Given the description of an element on the screen output the (x, y) to click on. 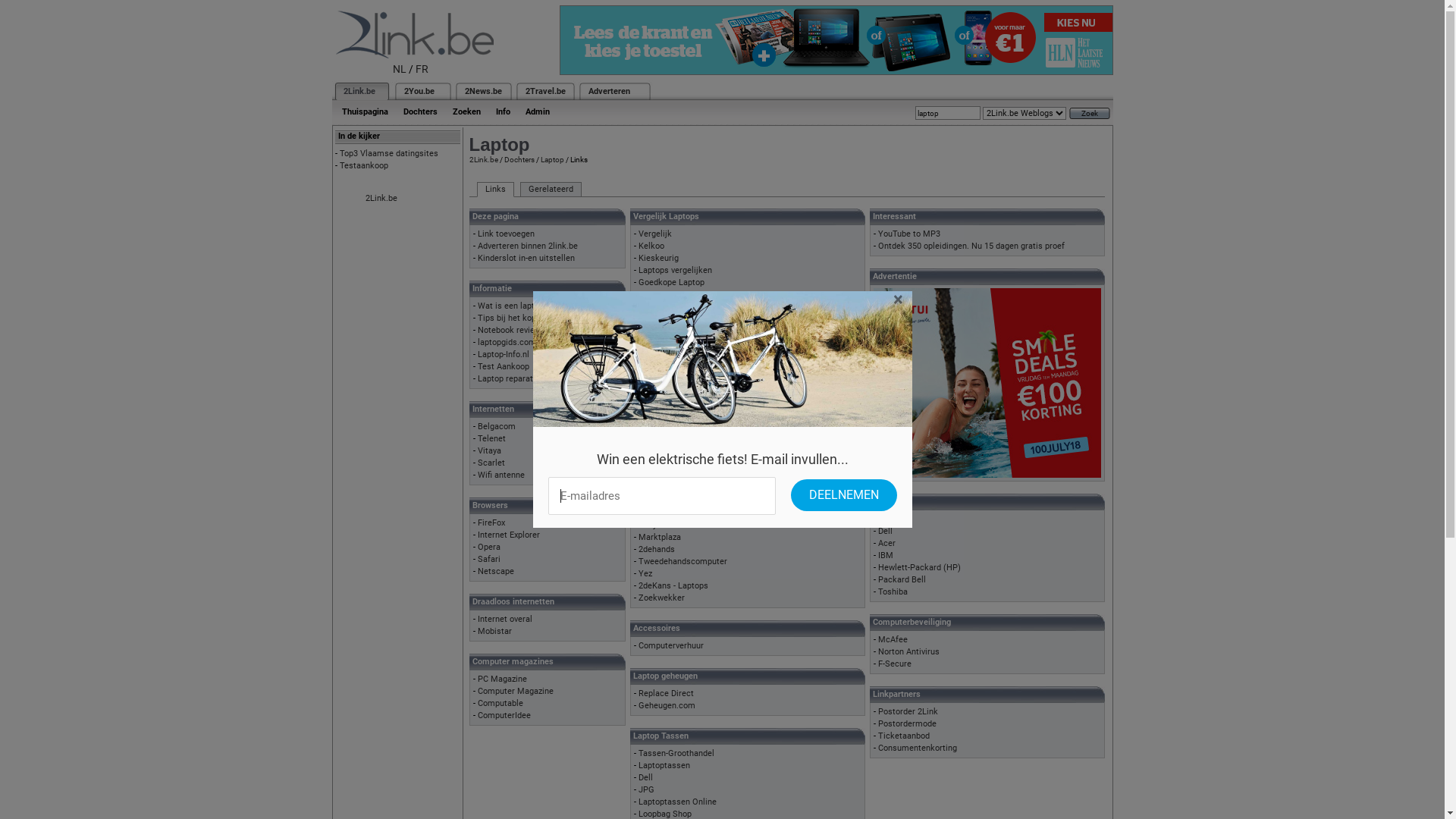
Tweedehands laptops Element type: text (679, 511)
Consumentenkorting Element type: text (917, 748)
Mobistar Element type: text (494, 631)
Belgacom Element type: text (496, 426)
Hewlett-Packard (HP) Element type: text (919, 567)
Links Element type: text (494, 189)
2You.be Element type: text (418, 91)
Testaankoop Element type: text (363, 165)
McAfee Element type: text (892, 639)
Kieskeurig Element type: text (658, 258)
Alternate Element type: text (655, 330)
Thuispagina Element type: text (364, 111)
Zoeken Element type: text (465, 111)
Laptoptassen Element type: text (664, 765)
Vergelijk Element type: text (654, 233)
Postordermode Element type: text (907, 723)
Marktplaza Element type: text (659, 537)
FireFox Element type: text (491, 522)
laptopgids.com Element type: text (506, 342)
Laptop Plus Hoogeveen Element type: text (682, 463)
Dochters Element type: text (518, 159)
Dell Laptops Element type: text (661, 354)
Toshiba Element type: text (892, 591)
2Link.be Element type: text (381, 198)
Apple Element type: text (888, 519)
Laptop Element type: text (551, 159)
Tips bij het kopen van een laptop Element type: text (539, 318)
Zoekwekker Element type: text (661, 597)
2Link.be Element type: text (358, 91)
Dell Element type: text (645, 777)
laptopverhuur Element type: text (664, 402)
Internet overal Element type: text (504, 619)
Link toevoegen Element type: text (505, 233)
Telenet Element type: text (491, 438)
Laptop-Info.nl Element type: text (503, 354)
Scarlet Element type: text (491, 462)
2Travel.be Element type: text (544, 91)
Skala laptop huur Element type: text (671, 451)
Goedkope Laptop Element type: text (671, 282)
ComputerIdee Element type: text (503, 715)
Notebook reviews Element type: text (511, 330)
Ticketaanbod Element type: text (903, 735)
Geheugen.com Element type: text (666, 705)
Norton Antivirus Element type: text (908, 651)
Vitaya Element type: text (489, 450)
Kelkoo Element type: text (651, 246)
Adverteren Element type: text (609, 91)
2News.be Element type: text (482, 91)
Kinderslot in-en uitstellen Element type: text (525, 258)
Tassen-Groothandel Element type: text (676, 753)
2dehands Element type: text (656, 549)
Computerverhuur Element type: text (670, 645)
Internet Explorer Element type: text (508, 534)
YouTube to MP3 Element type: text (909, 233)
Acer Element type: text (886, 543)
Netscape Element type: text (495, 571)
IBM Element type: text (885, 555)
Computer Magazine Element type: text (515, 691)
Postorder 2Link Element type: text (908, 711)
PC Magazine Element type: text (502, 679)
Dochters Element type: text (420, 111)
Wat is een laptop? Element type: text (512, 305)
2deKans - Laptops Element type: text (673, 585)
Apple Store Element type: text (660, 342)
Info Element type: text (502, 111)
Vanden borre Element type: text (663, 390)
Pixmania Element type: text (655, 378)
Laptops vergelijken Element type: text (675, 270)
Neck Laptops Element type: text (664, 366)
2Link.be Element type: text (482, 159)
Wifi antenne Element type: text (500, 475)
Adverteren binnen 2link.be Element type: text (527, 246)
Replace Direct Element type: text (665, 693)
AnotherKindOfShop Element type: text (675, 427)
Test Aankoop Element type: text (503, 366)
Zoek Element type: text (1089, 113)
Tablet Laptop Element type: text (664, 415)
F-Secure Element type: text (894, 663)
eBay Element type: text (647, 525)
Laptop-Shop Element type: text (661, 439)
Yez Element type: text (645, 573)
Ontdek 350 opleidingen. Nu 15 dagen gratis proef Element type: text (971, 246)
Laptoptassen Online Element type: text (677, 801)
Gerelateerd Element type: text (550, 189)
NL Element type: text (399, 68)
FR Element type: text (421, 68)
Dell Element type: text (885, 531)
Opera Element type: text (488, 547)
Tweedehandscomputer Element type: text (682, 561)
Computable Element type: text (500, 703)
Top3 Vlaamse datingsites Element type: text (388, 153)
Safari Element type: text (488, 559)
Packard Bell Element type: text (901, 579)
JPG Element type: text (646, 789)
Laptop reparatietips Element type: text (515, 378)
Admin Element type: text (536, 111)
